Given the description of an element on the screen output the (x, y) to click on. 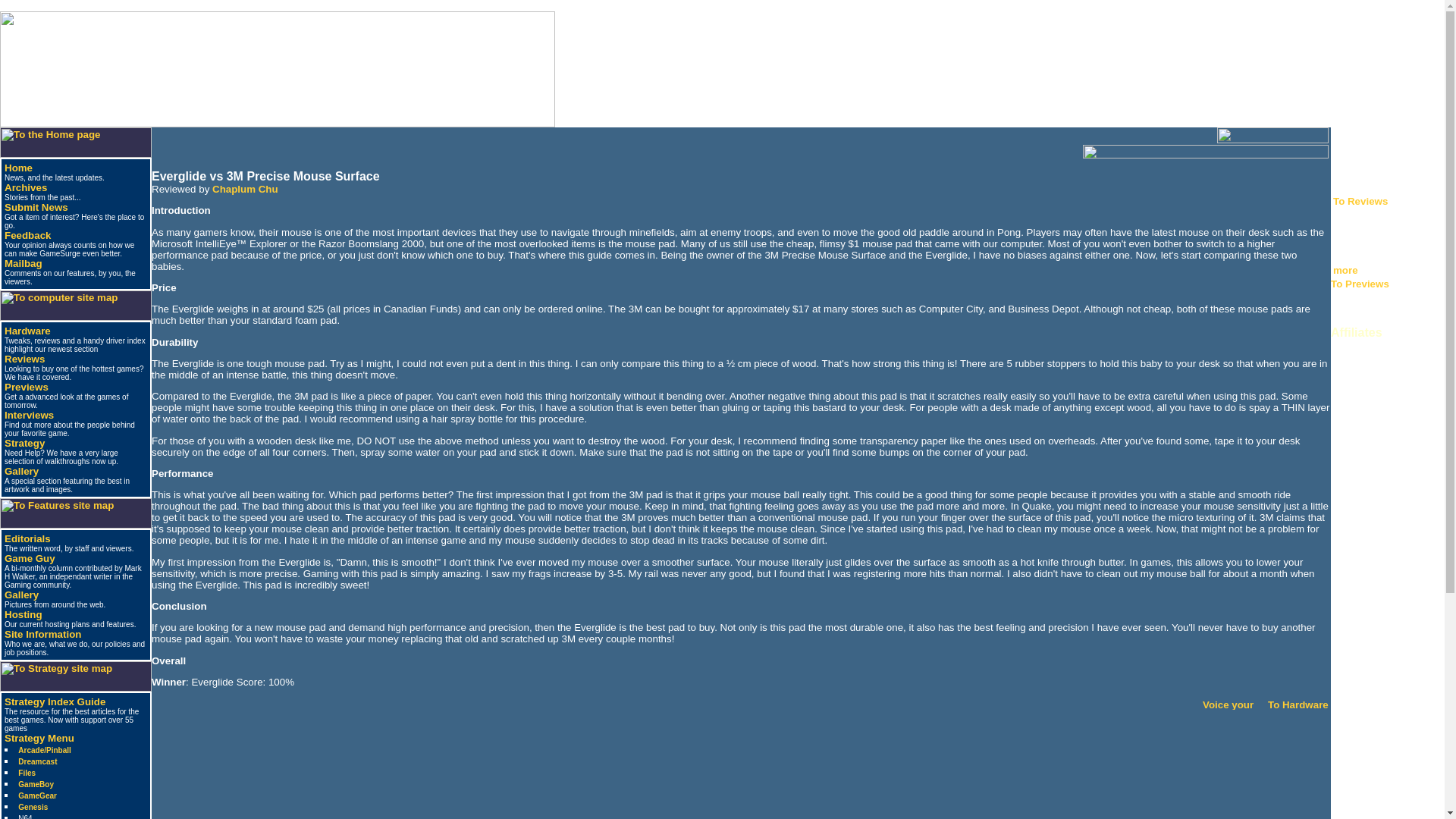
Game Guy (29, 558)
Submit News (36, 206)
Archives (25, 187)
Hardware (27, 330)
Hosting (23, 614)
GameBoy (35, 784)
Mailbag (23, 263)
Chaplum Chu (245, 188)
Interviews (28, 414)
Strategy (24, 442)
GameGear (36, 795)
Genesis (32, 807)
Gallery (21, 594)
Dreamcast (36, 761)
Previews (26, 387)
